Given the description of an element on the screen output the (x, y) to click on. 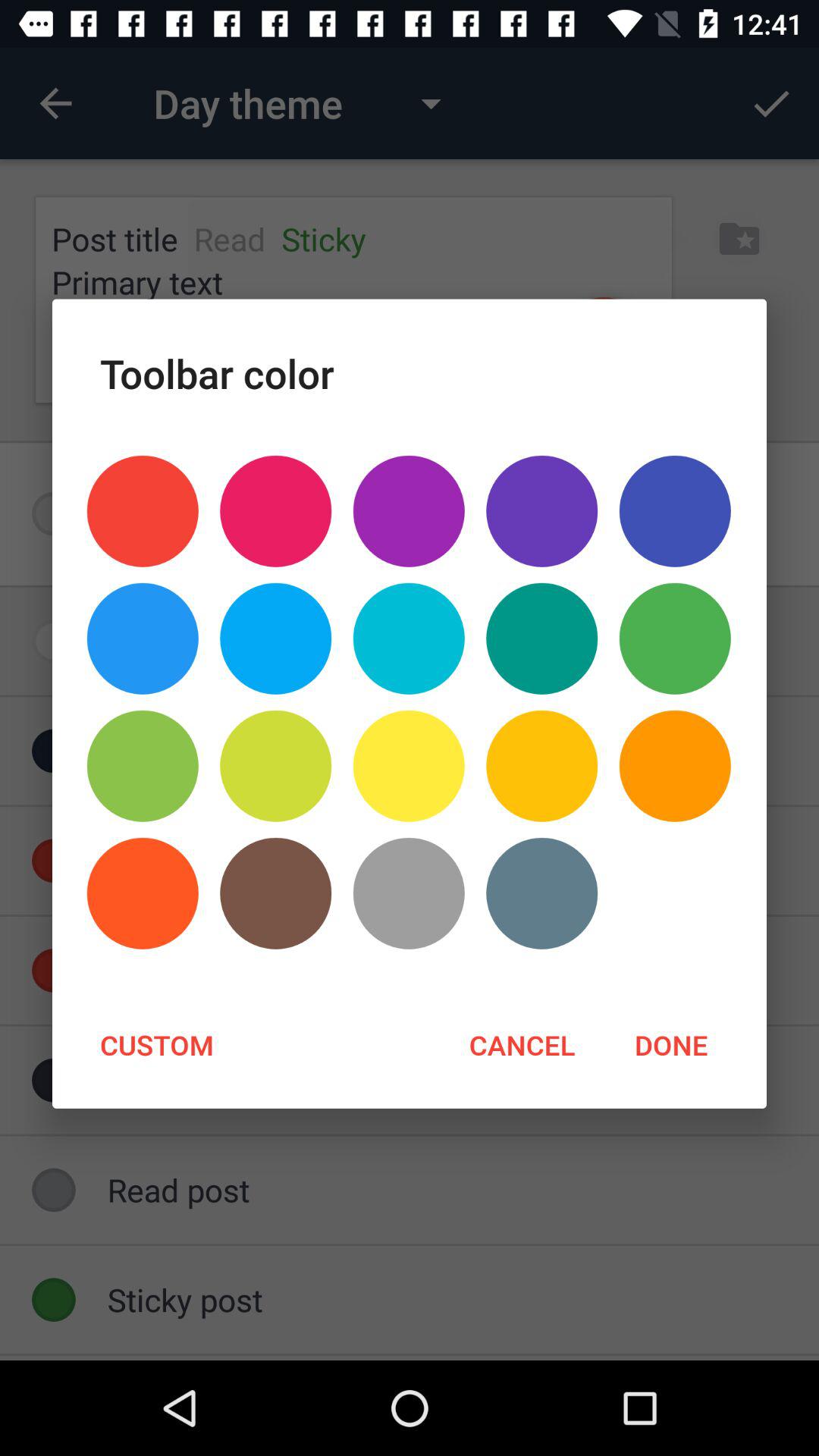
turn on icon to the left of cancel (156, 1044)
